Given the description of an element on the screen output the (x, y) to click on. 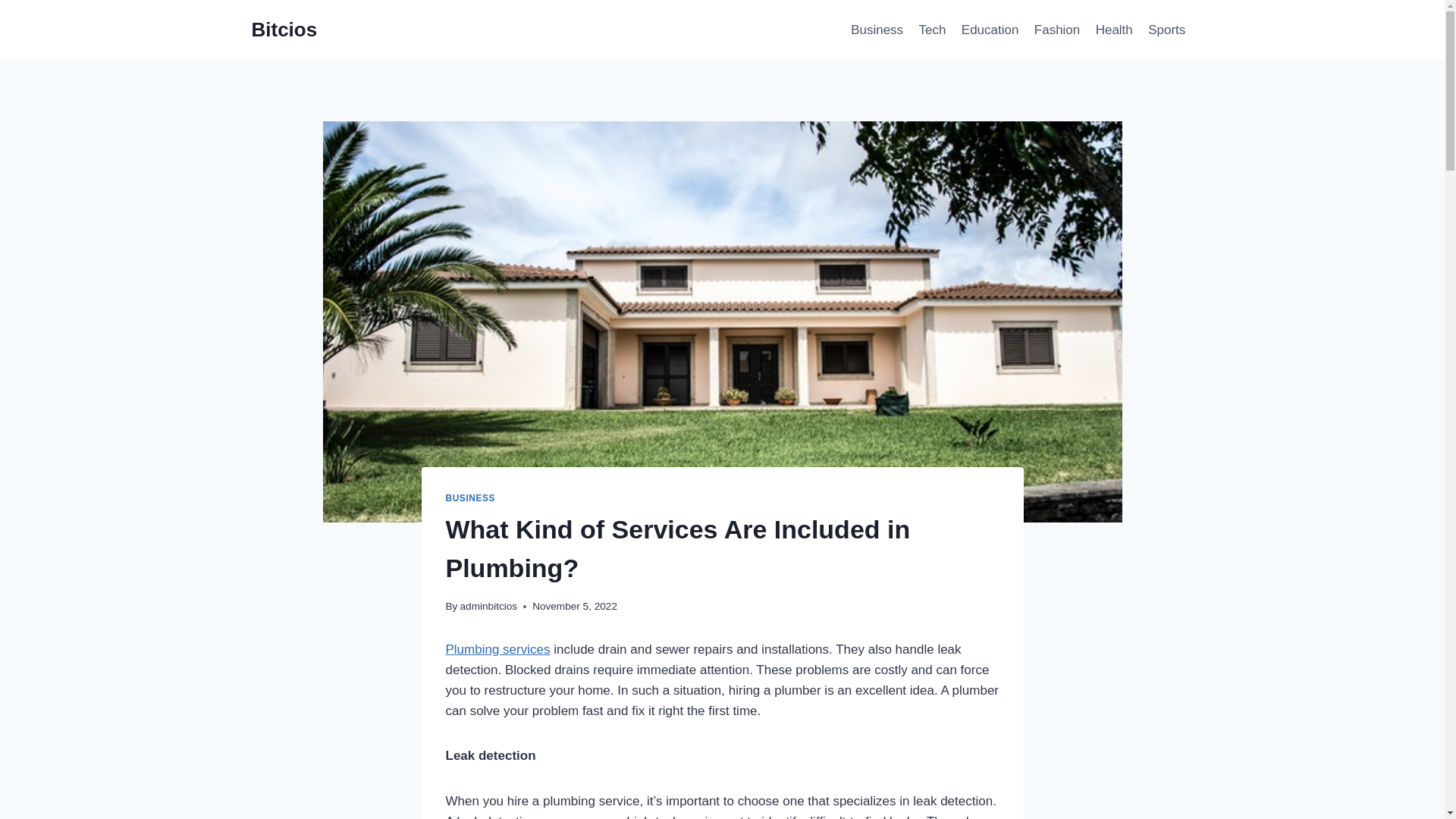
BUSINESS (470, 498)
Plumbing services (497, 649)
adminbitcios (489, 605)
Education (989, 30)
Bitcios (284, 29)
Fashion (1056, 30)
Tech (932, 30)
Business (877, 30)
Sports (1166, 30)
Health (1113, 30)
